Given the description of an element on the screen output the (x, y) to click on. 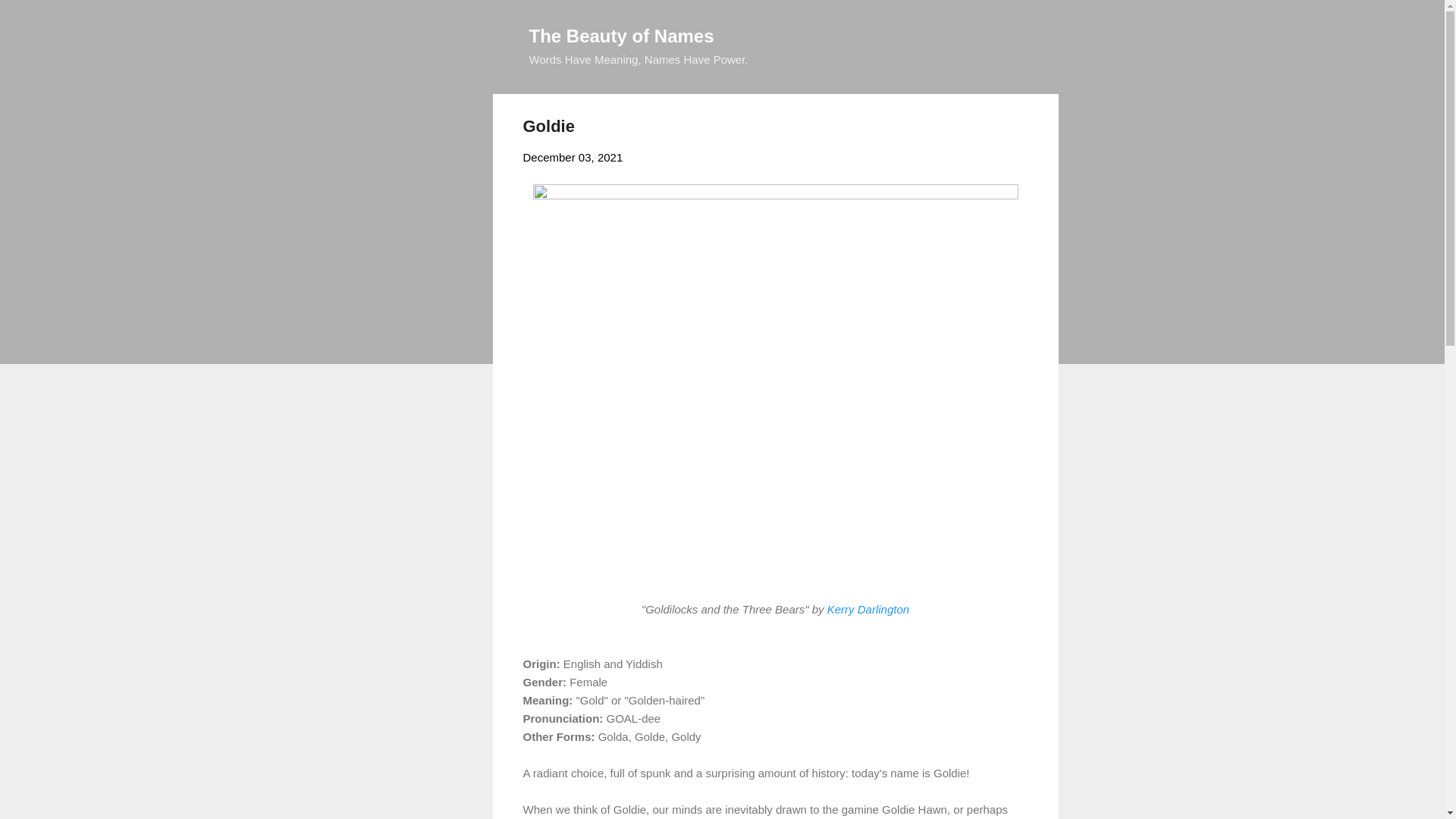
Kerry Darlington (867, 608)
Search (29, 18)
The Beauty of Names (621, 35)
December 03, 2021 (572, 156)
permanent link (572, 156)
